Given the description of an element on the screen output the (x, y) to click on. 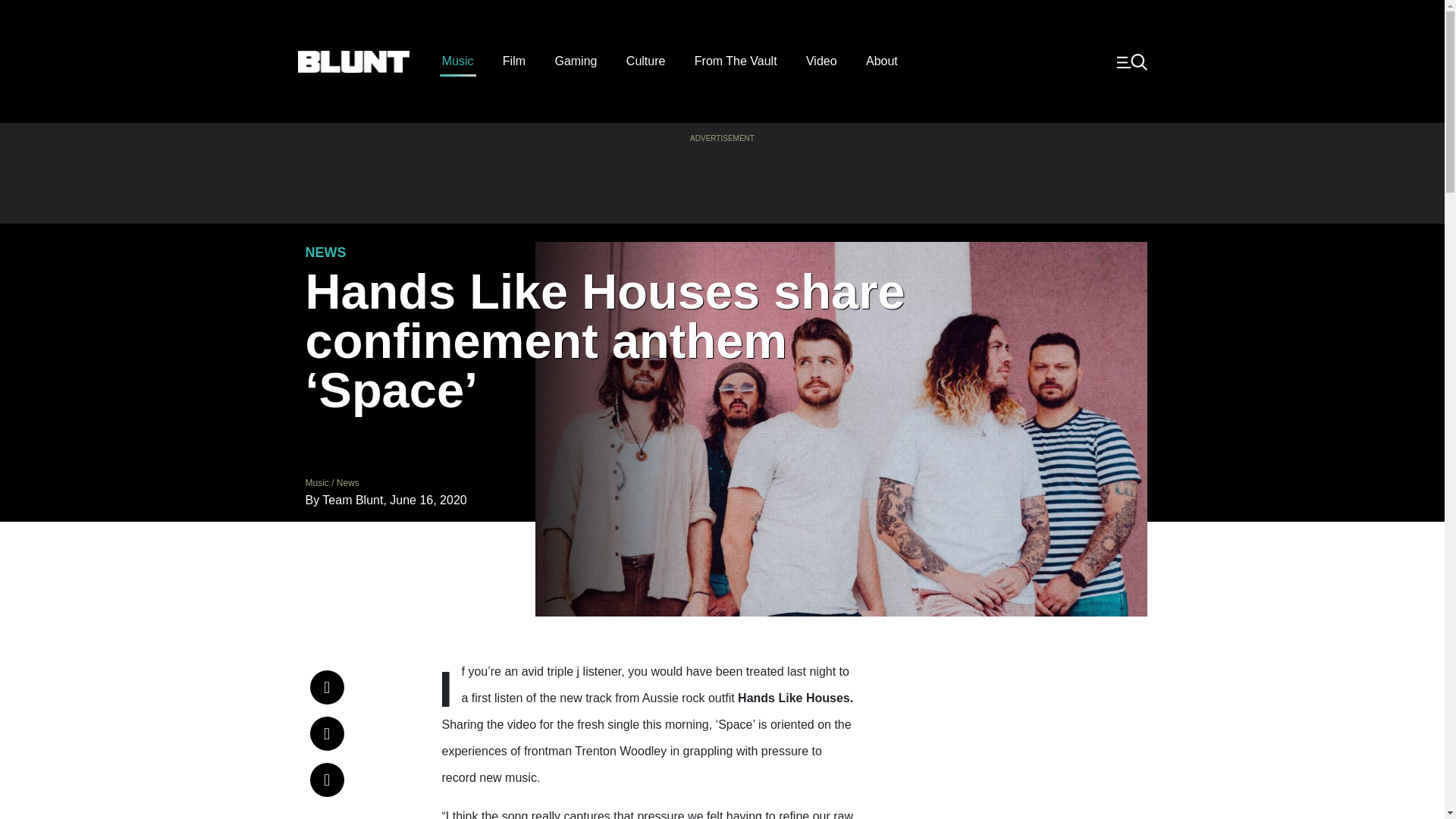
From The Vault (735, 61)
About (881, 61)
News (347, 482)
Film (513, 61)
Video (821, 61)
Film (513, 61)
From The Vault (735, 61)
Music (457, 61)
Music (316, 482)
Video (821, 61)
Gaming (575, 61)
About (881, 61)
Culture (645, 61)
Gaming (575, 61)
June 16, 2020 (427, 499)
